Given the description of an element on the screen output the (x, y) to click on. 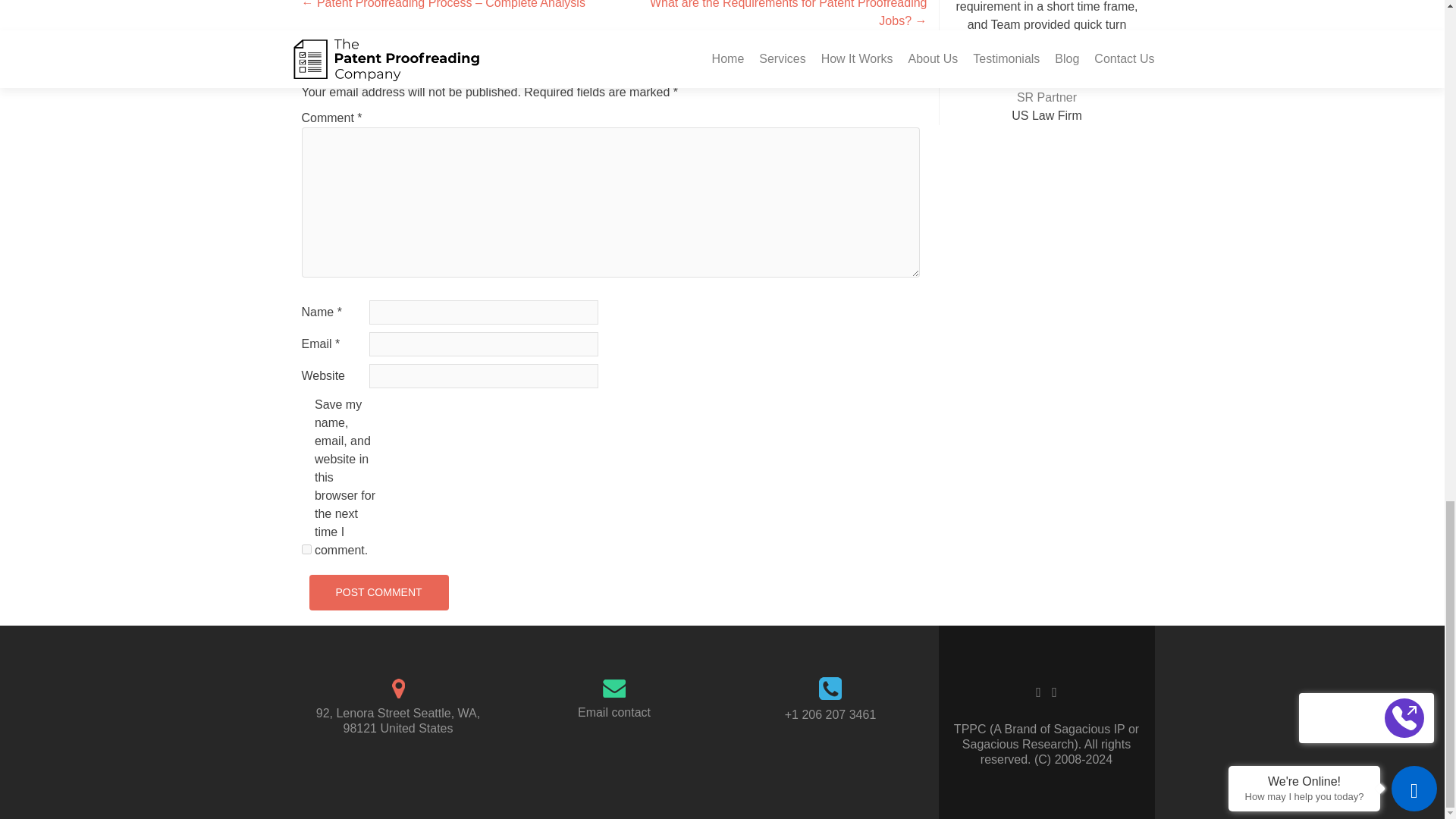
Twitter link (1054, 691)
Facebook link (1038, 691)
Post Comment (378, 592)
yes (306, 549)
Post Comment (378, 592)
Email contact (614, 712)
SR Partner (1046, 97)
